Given the description of an element on the screen output the (x, y) to click on. 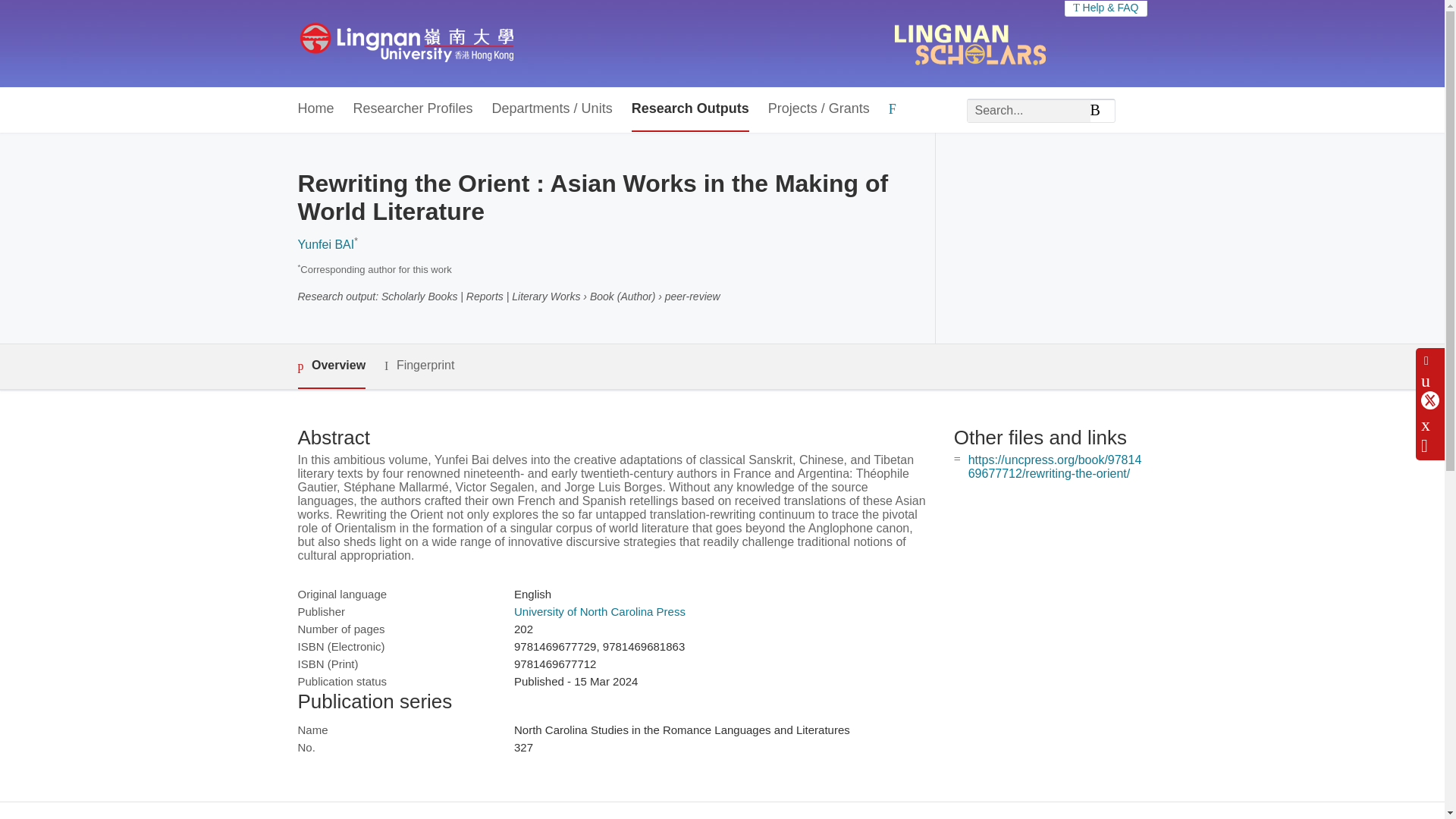
Research Outputs (690, 108)
Fingerprint (419, 365)
Yunfei BAI (325, 244)
Overview (331, 366)
Researcher Profiles (413, 108)
Lingnan Scholars Home (406, 43)
University of North Carolina Press (599, 611)
